Given the description of an element on the screen output the (x, y) to click on. 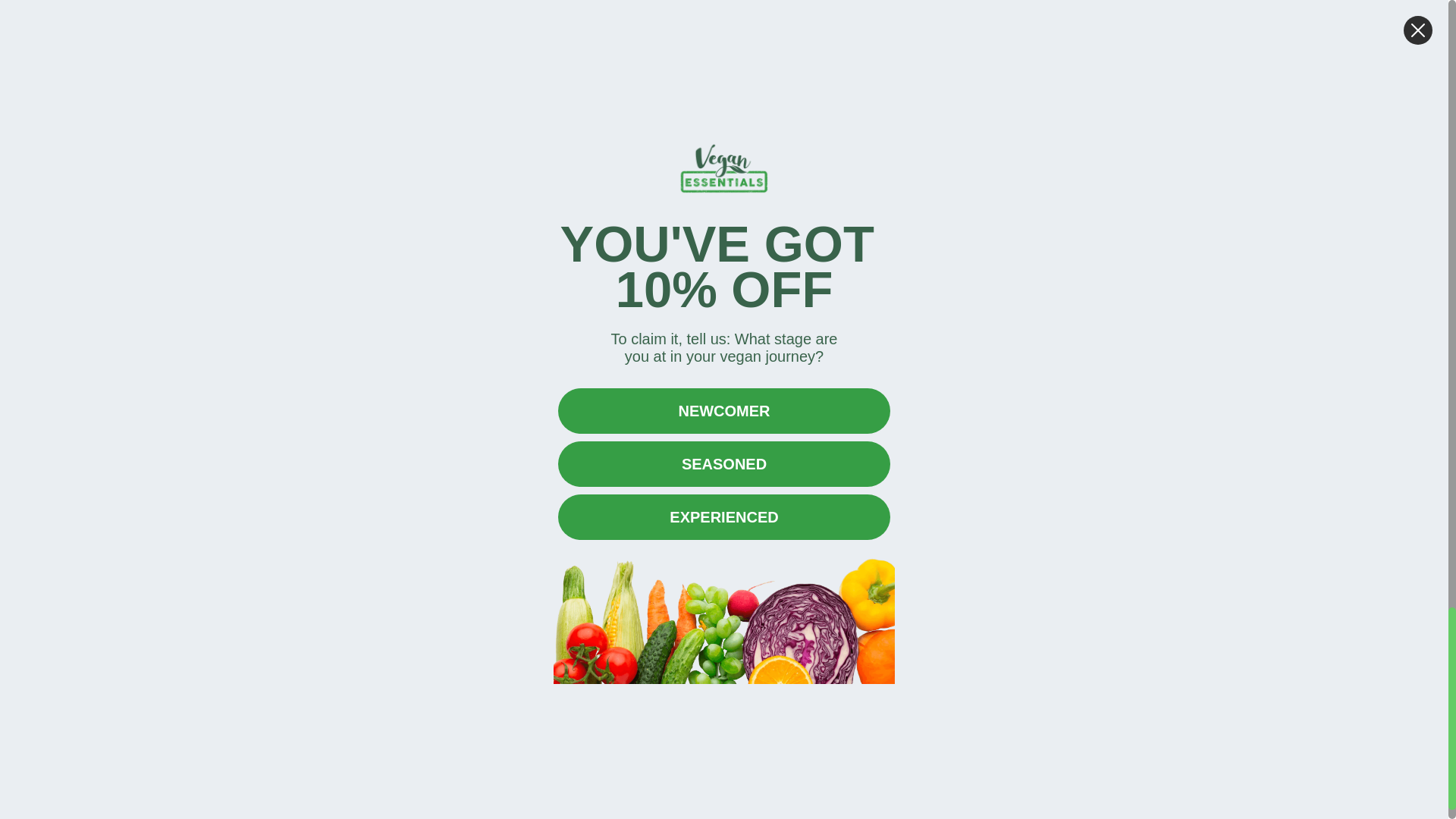
SUBSCRIBE (1128, 572)
